Given the description of an element on the screen output the (x, y) to click on. 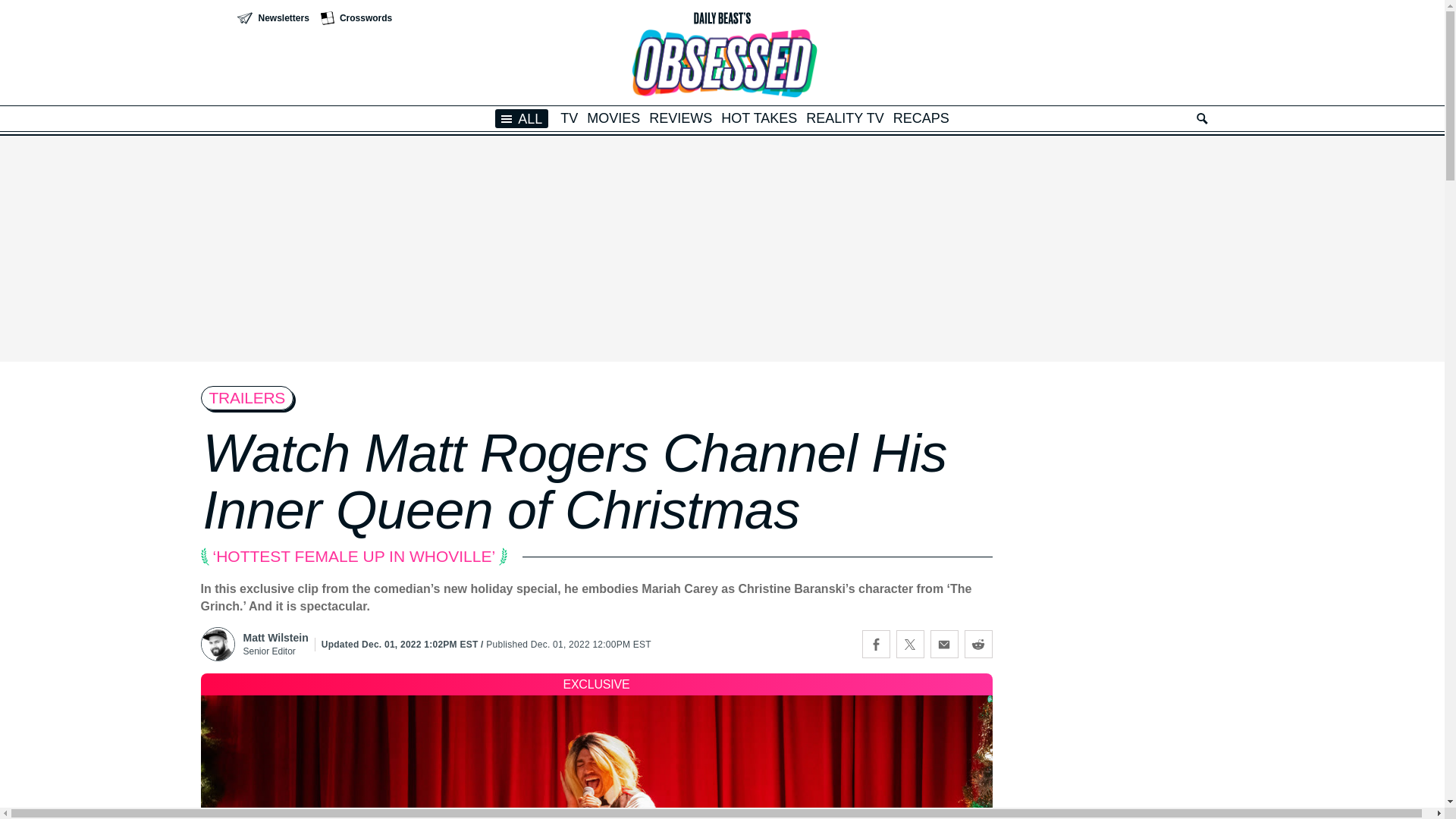
Newsletters (271, 18)
HOT TAKES (758, 118)
TV (569, 118)
TRAILERS (247, 397)
Crosswords (356, 18)
REVIEWS (680, 118)
Senior Editor (275, 651)
RECAPS (921, 118)
MOVIES (613, 118)
ALL (521, 117)
